Given the description of an element on the screen output the (x, y) to click on. 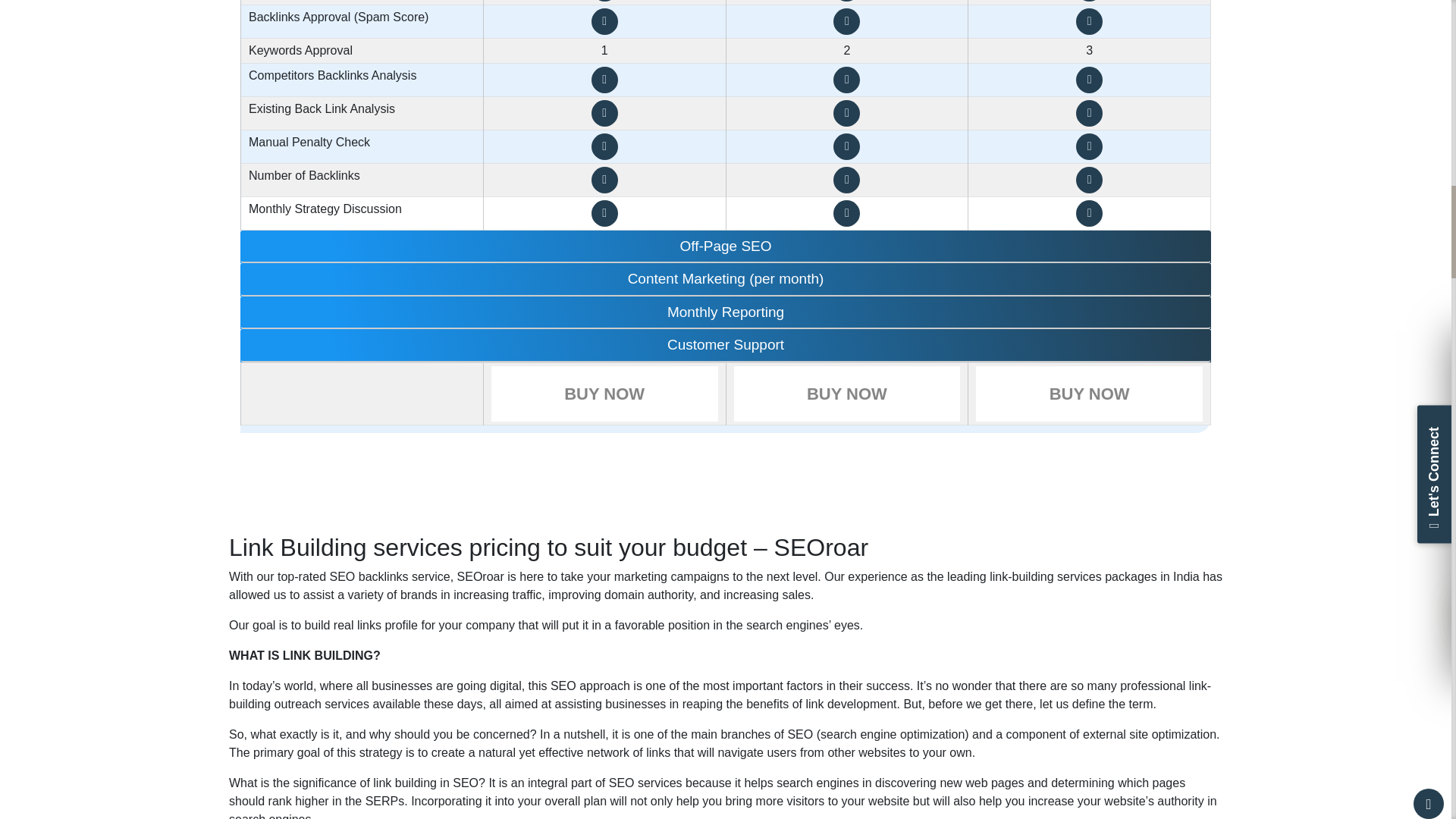
Buy Now (603, 393)
Buy Now (847, 393)
Buy Now (1089, 393)
